Given the description of an element on the screen output the (x, y) to click on. 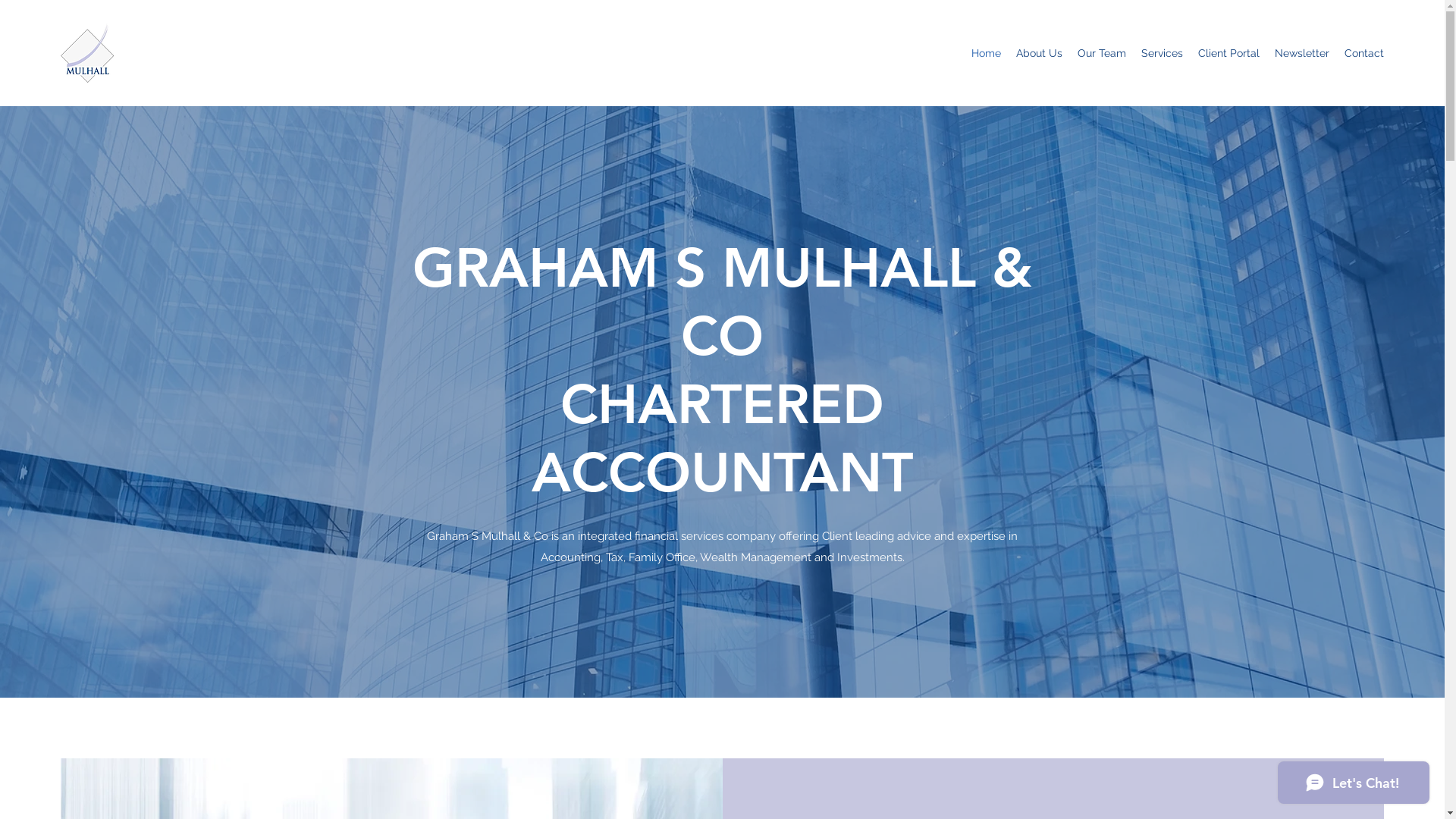
Our Team Element type: text (1101, 52)
Client Portal Element type: text (1228, 52)
Contact Element type: text (1363, 52)
About Us Element type: text (1039, 52)
Newsletter Element type: text (1301, 52)
Services Element type: text (1161, 52)
Home Element type: text (985, 52)
